Given the description of an element on the screen output the (x, y) to click on. 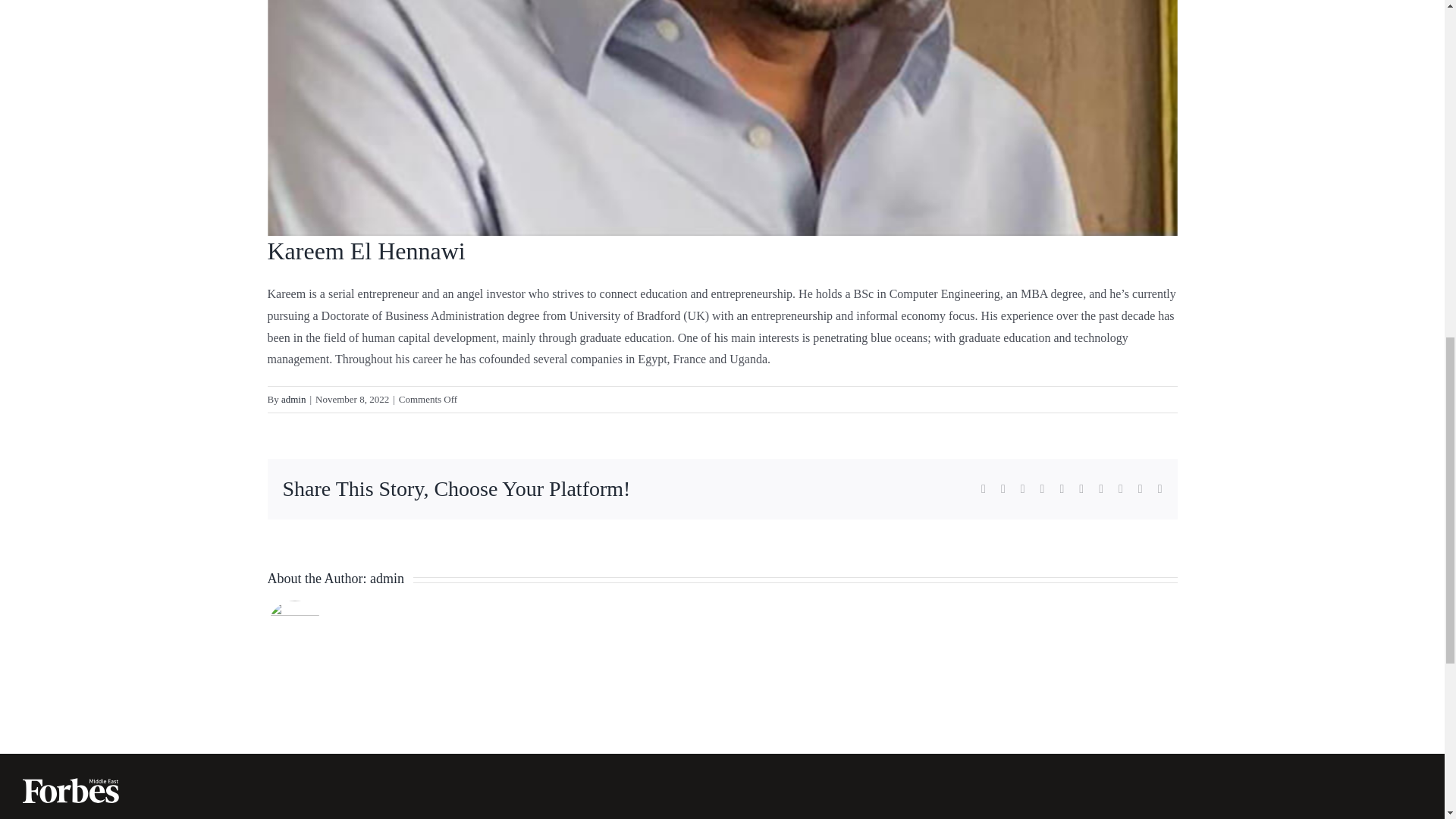
admin (293, 398)
Posts by admin (386, 578)
Posts by admin (293, 398)
admin (386, 578)
